Given the description of an element on the screen output the (x, y) to click on. 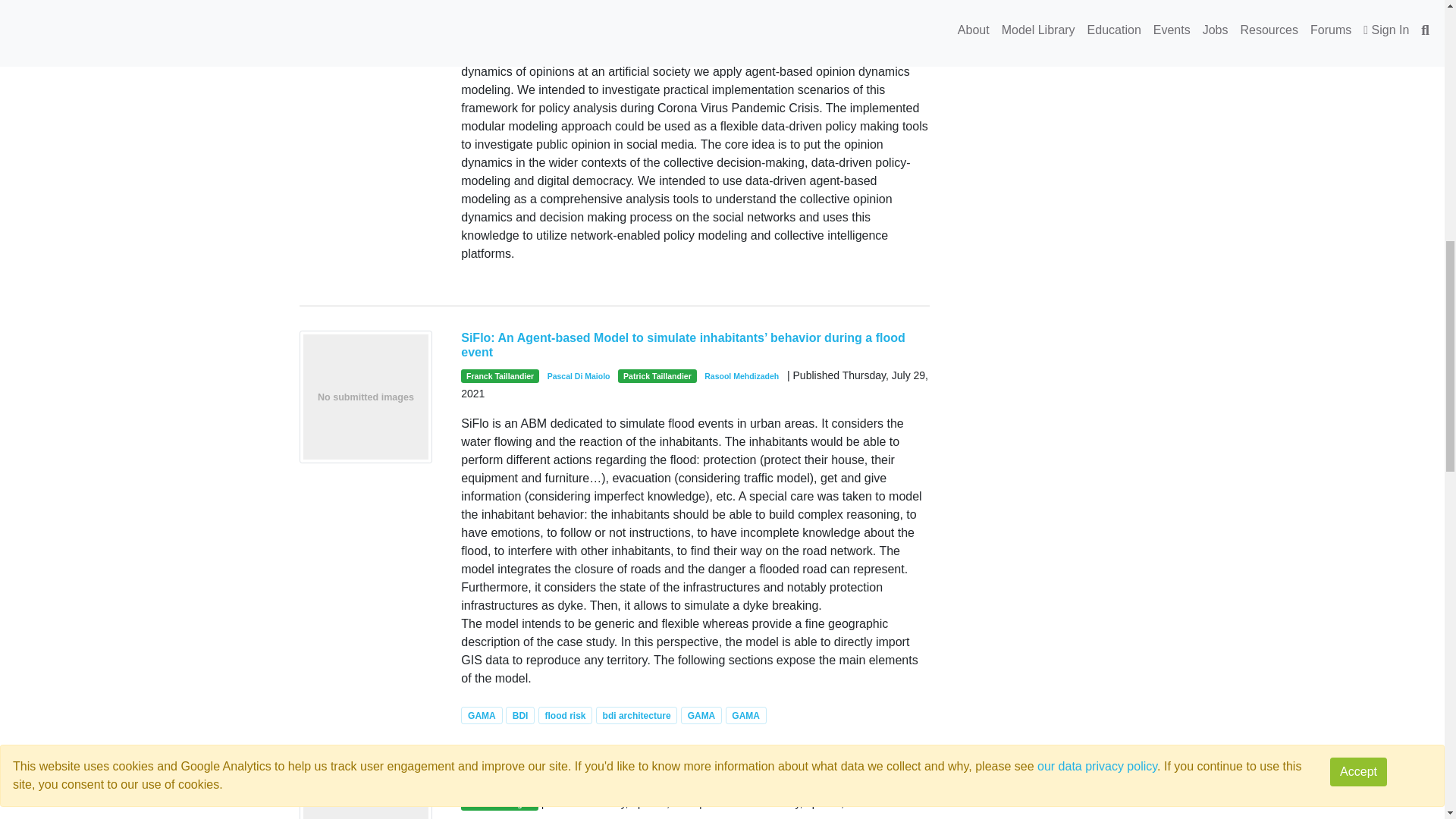
Franck Taillandier (499, 376)
GAMA (746, 714)
Rasool Mehdizadeh (741, 376)
flood risk (565, 714)
Patrick Taillandier (656, 376)
bdi architecture (636, 714)
GAMA (701, 714)
Pascal Di Maiolo (578, 376)
GAMA (481, 714)
BDI (519, 714)
